Given the description of an element on the screen output the (x, y) to click on. 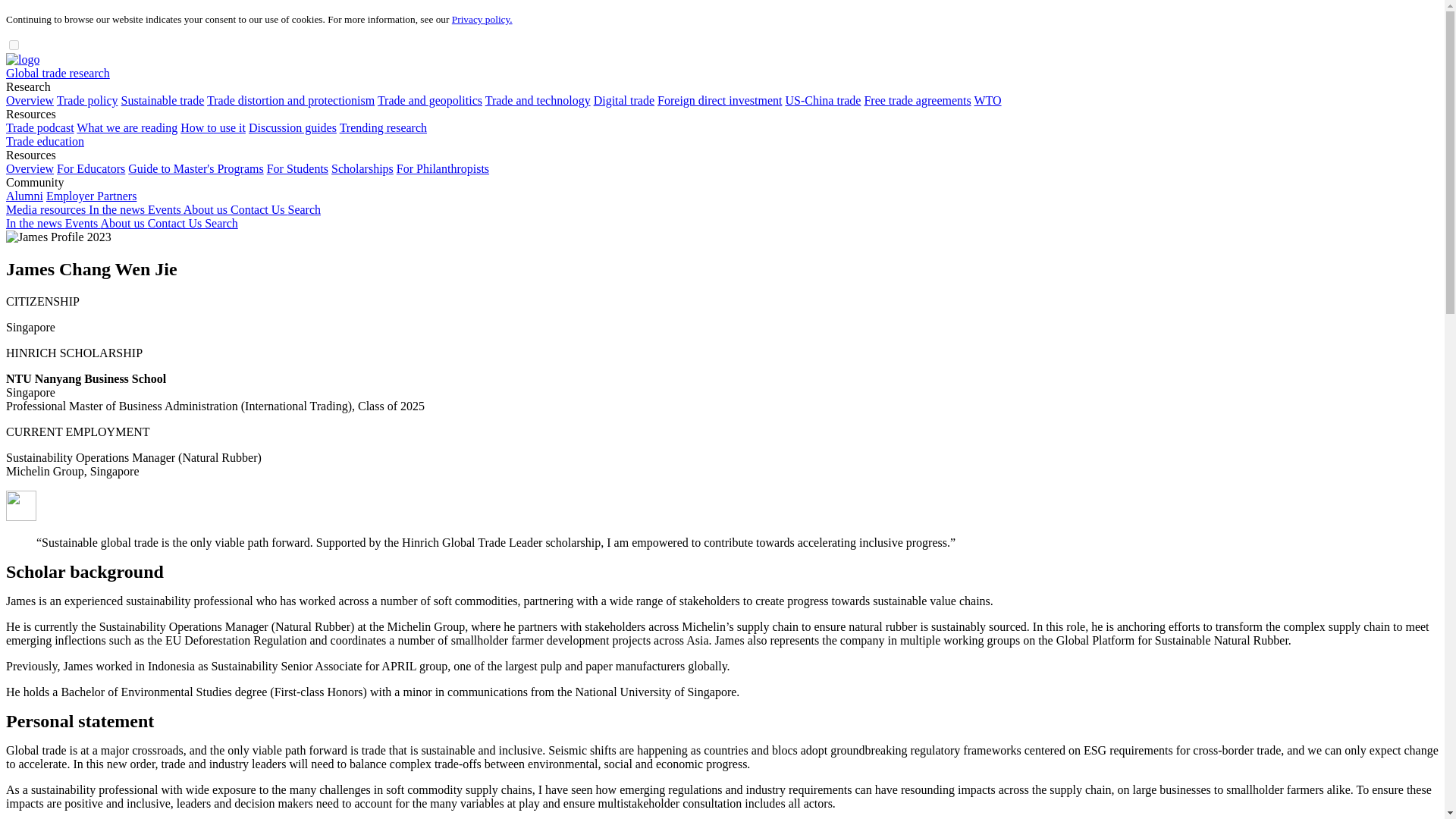
US-China trade (822, 100)
Foreign direct investment (719, 100)
About us (206, 209)
Privacy policy (481, 19)
Scholarships (362, 168)
Trade distortion and protectionism (290, 100)
Digital trade (623, 100)
Overview (29, 168)
Trade and technology (537, 100)
Discussion guides (292, 127)
Privacy policy. (481, 19)
open (13, 44)
Alumni (24, 195)
Trade policy (86, 100)
Global trade research (57, 72)
